Given the description of an element on the screen output the (x, y) to click on. 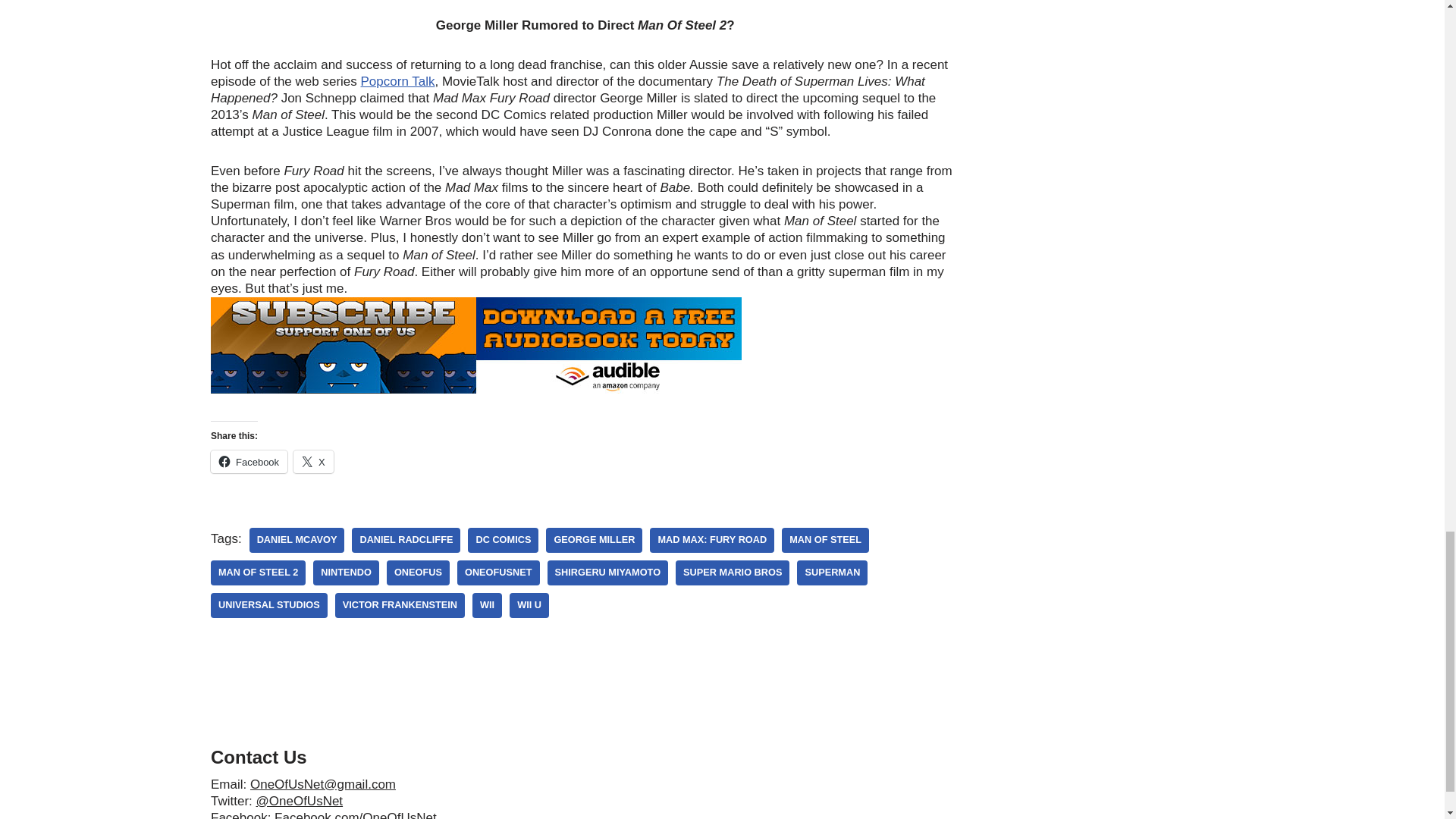
Click to share on X (313, 461)
Daniel McAvoy (296, 539)
george miller (594, 539)
Daniel Radcliffe (406, 539)
DC Comics (502, 539)
Man of Steel 2 (258, 572)
man of steel (825, 539)
Click to share on Facebook (248, 461)
Mad Max: Fury Road (711, 539)
Nintendo (345, 572)
